Given the description of an element on the screen output the (x, y) to click on. 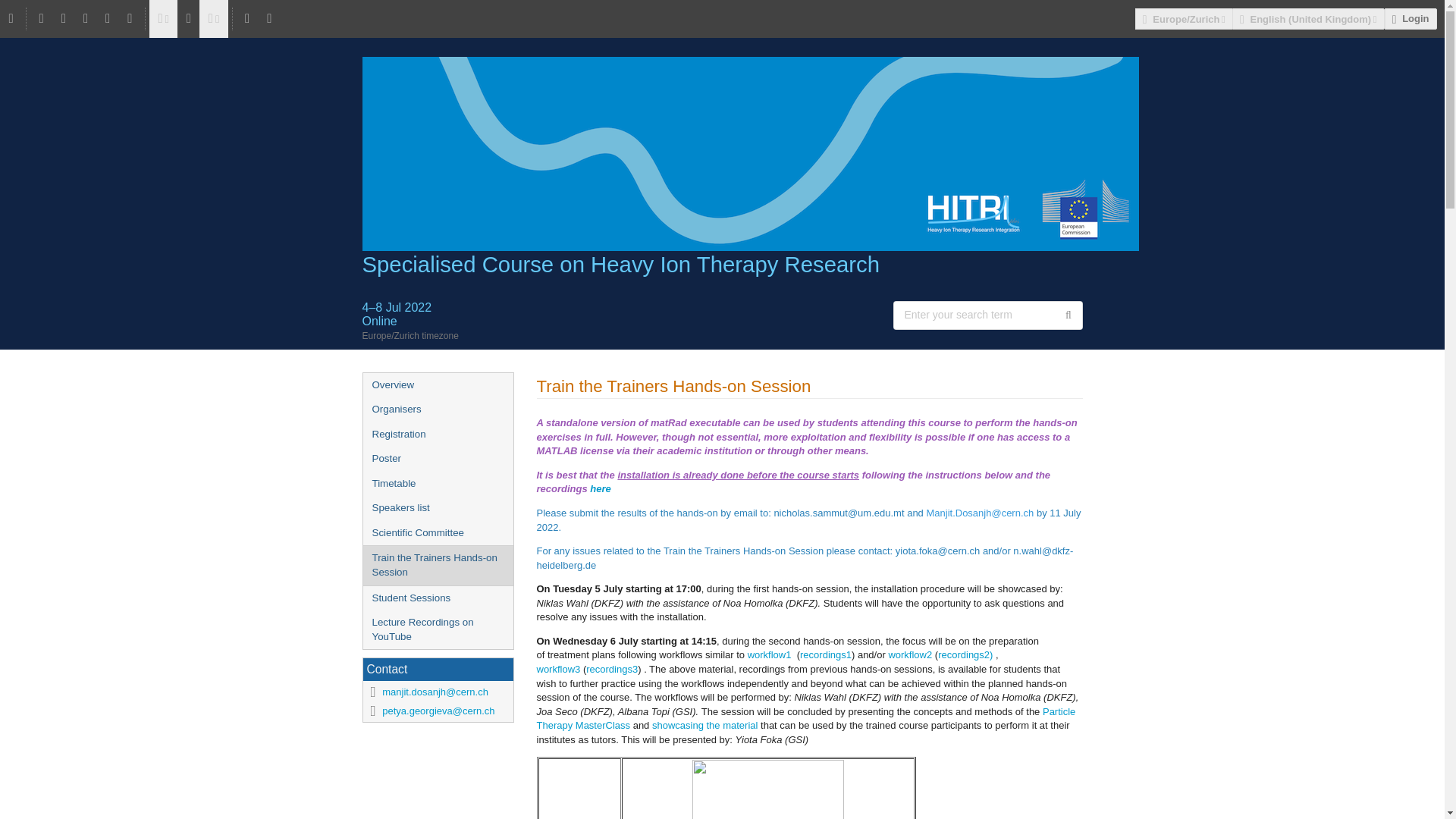
Registration (437, 434)
Login (1410, 19)
Organisers (437, 409)
Overview (437, 385)
